Given the description of an element on the screen output the (x, y) to click on. 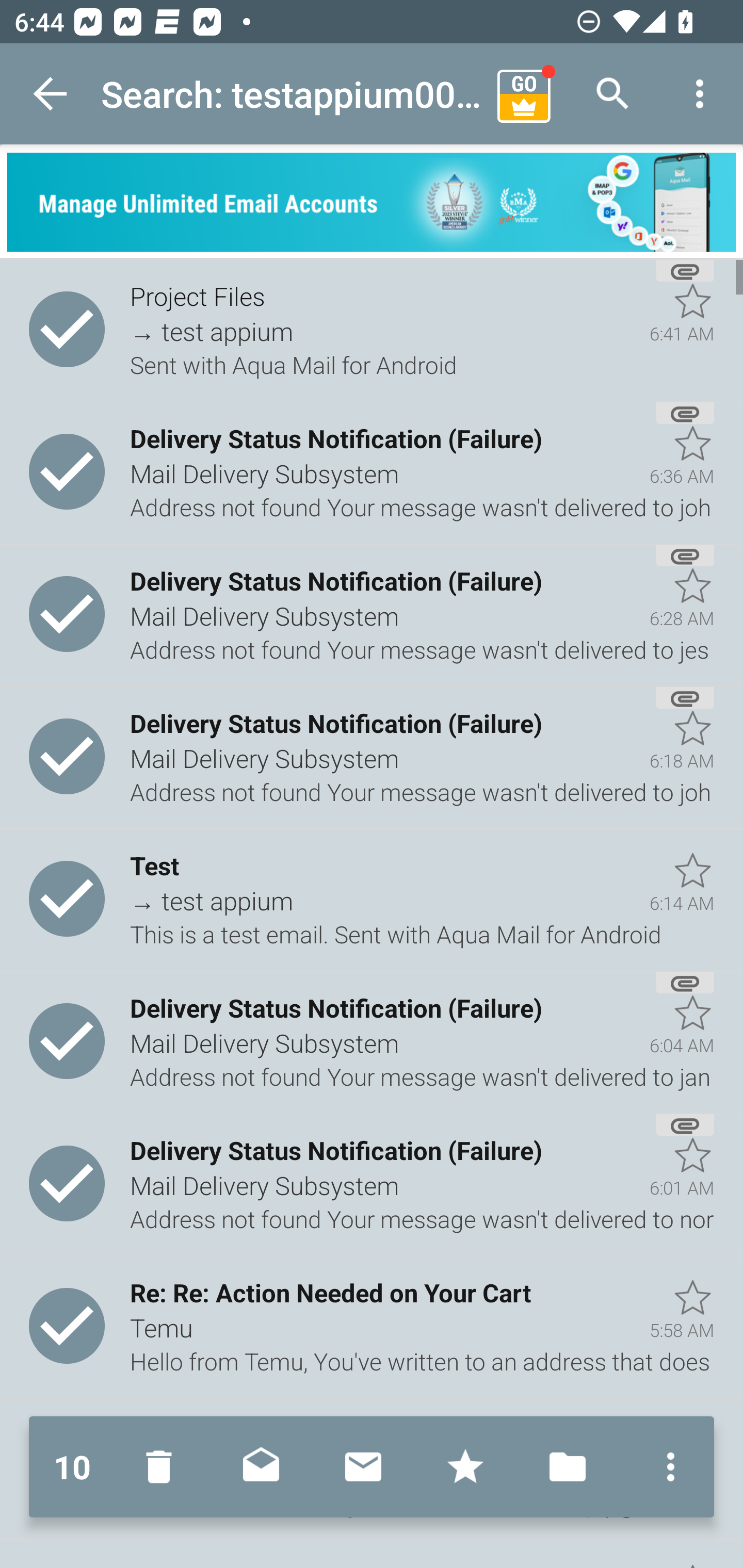
Navigate up (50, 93)
Search (612, 93)
More options (699, 93)
10 10 messages (71, 1466)
Move to Deleted (162, 1466)
Mark read (261, 1466)
Mark unread (363, 1466)
Mark with stars (465, 1466)
Move to folder… (567, 1466)
More options (666, 1466)
